Given the description of an element on the screen output the (x, y) to click on. 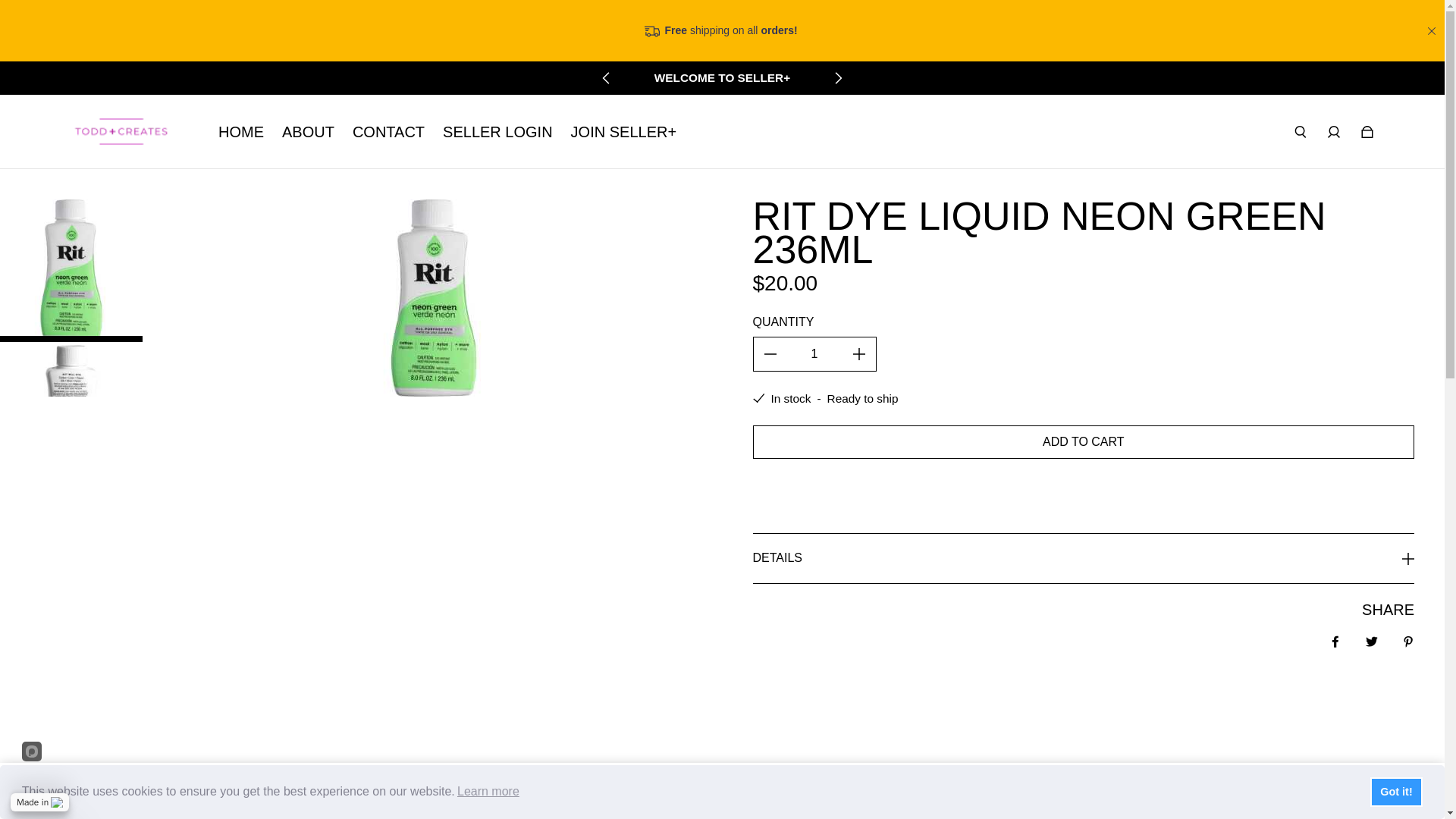
CONTACT (388, 131)
HOME (240, 131)
SELLER LOGIN (497, 131)
1 (815, 354)
ABOUT (308, 131)
